Given the description of an element on the screen output the (x, y) to click on. 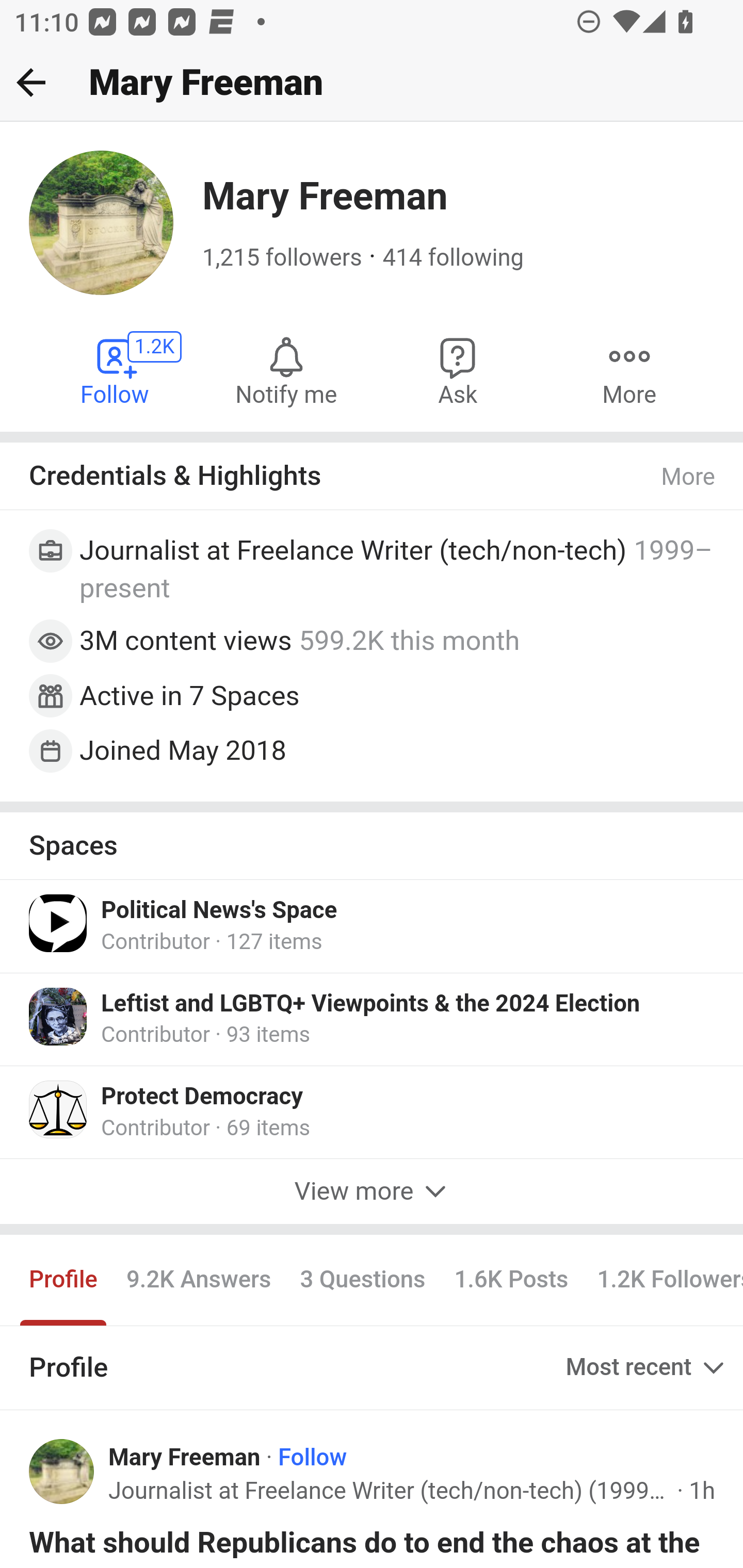
Back (30, 82)
Follow Mary Freeman 1.2K Follow (115, 370)
Notify me (285, 370)
Ask (458, 370)
More (628, 370)
More (688, 477)
Icon for Political News's Space (58, 923)
Political News's Space (219, 910)
Leftist and LGBTQ+ Viewpoints & the 2024 Election (370, 1004)
Icon for Protect Democracy (58, 1108)
Protect Democracy (202, 1096)
View more (371, 1190)
Profile (63, 1279)
9.2K Answers (197, 1279)
3 Questions (362, 1279)
1.6K Posts (510, 1279)
1.2K Followers (662, 1279)
Most recent (647, 1367)
Profile photo for Mary Freeman (61, 1471)
Mary Freeman (184, 1457)
Follow (312, 1457)
